Given the description of an element on the screen output the (x, y) to click on. 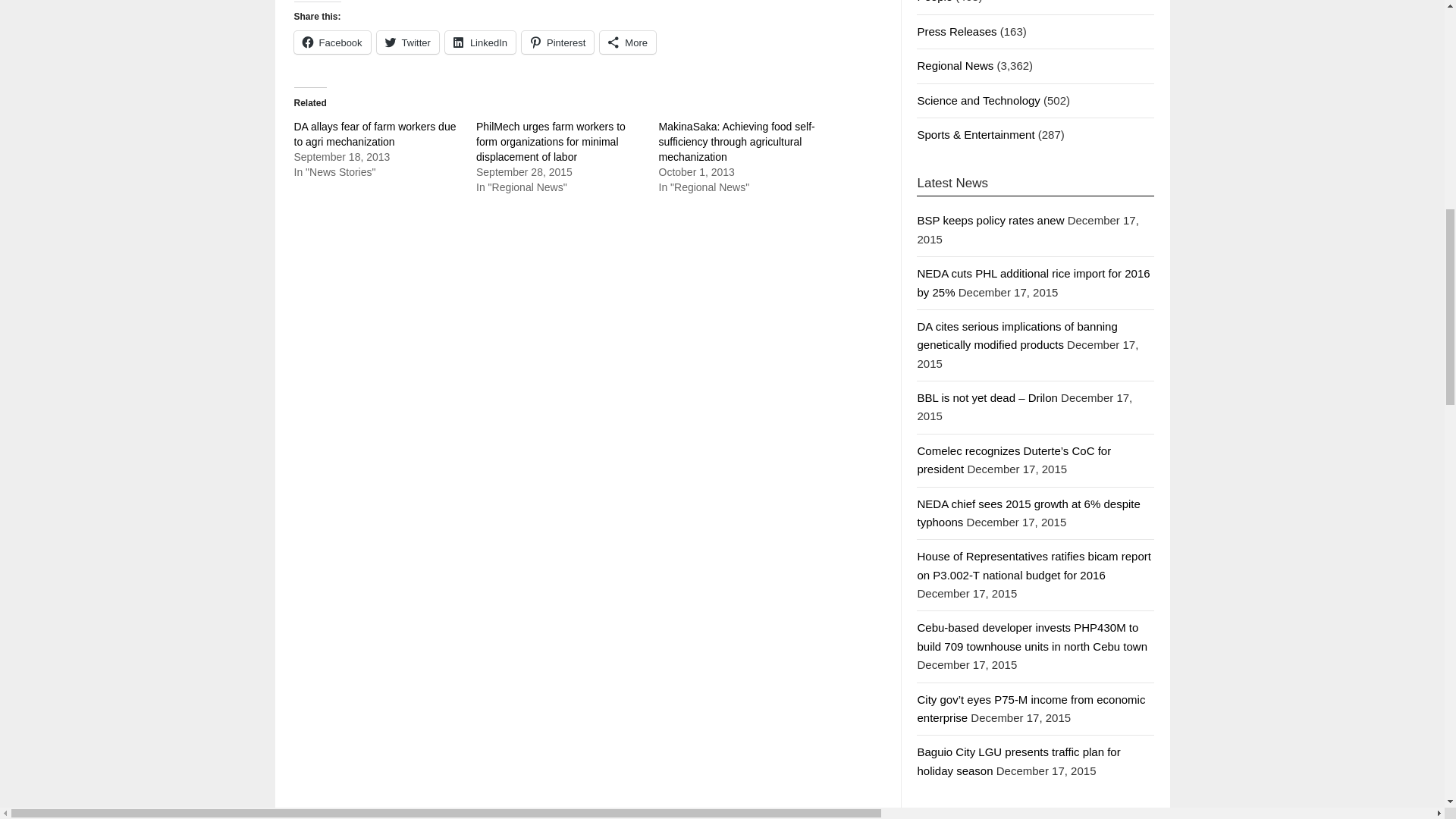
Click to share on Twitter (408, 42)
Click to share on LinkedIn (480, 42)
Pinterest (557, 42)
More (627, 42)
Regional News (954, 65)
DA allays fear of farm workers due to agri mechanization (375, 134)
LinkedIn (480, 42)
Click to share on Pinterest (557, 42)
Twitter (408, 42)
